Given the description of an element on the screen output the (x, y) to click on. 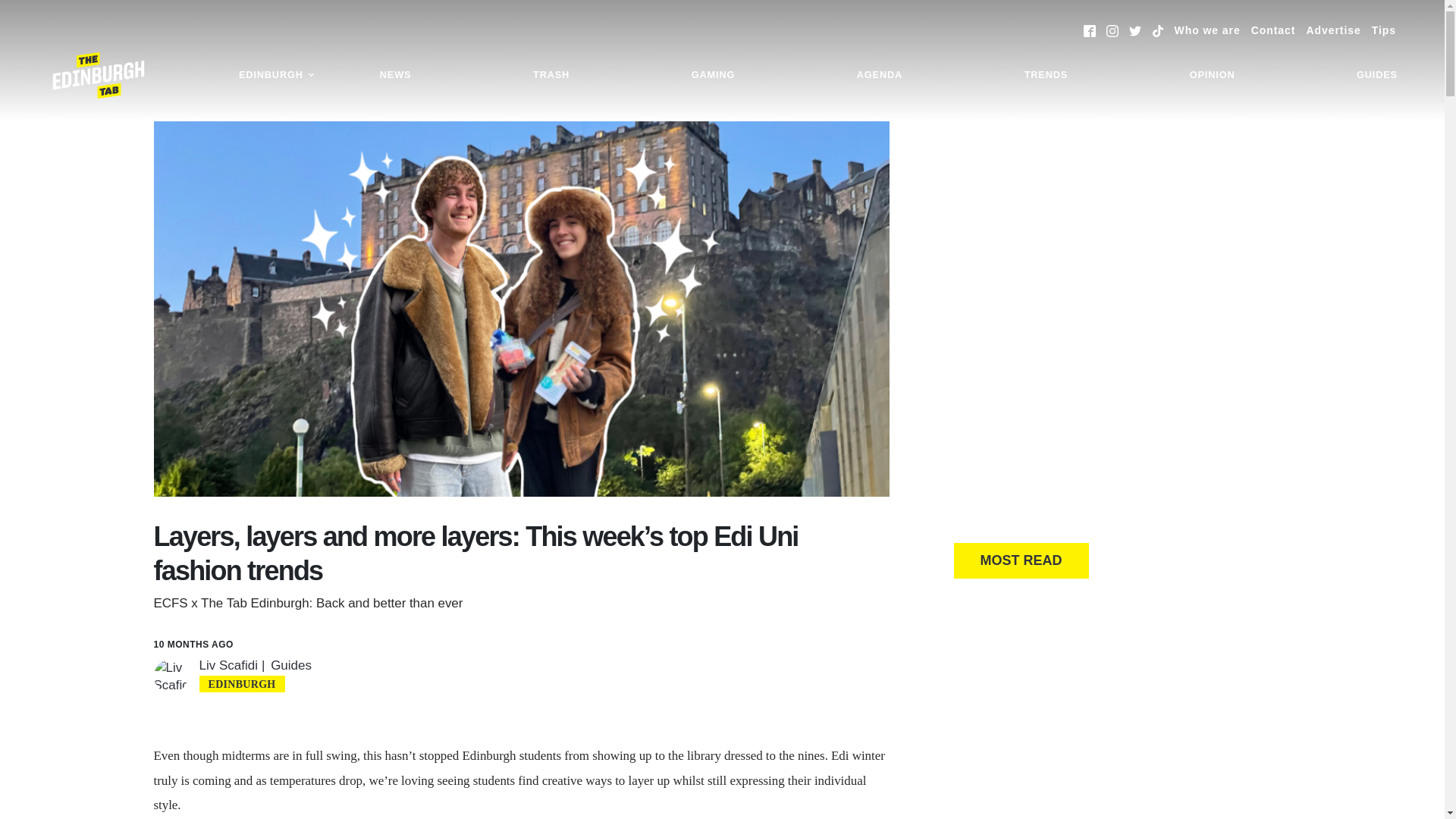
OPINION (1211, 75)
TRASH (550, 75)
GAMING (712, 75)
Tips (1383, 29)
Advertise (1332, 29)
EDINBURGH (276, 75)
GUIDES (1377, 75)
NEWS (395, 75)
Contact (1272, 29)
AGENDA (879, 75)
